Given the description of an element on the screen output the (x, y) to click on. 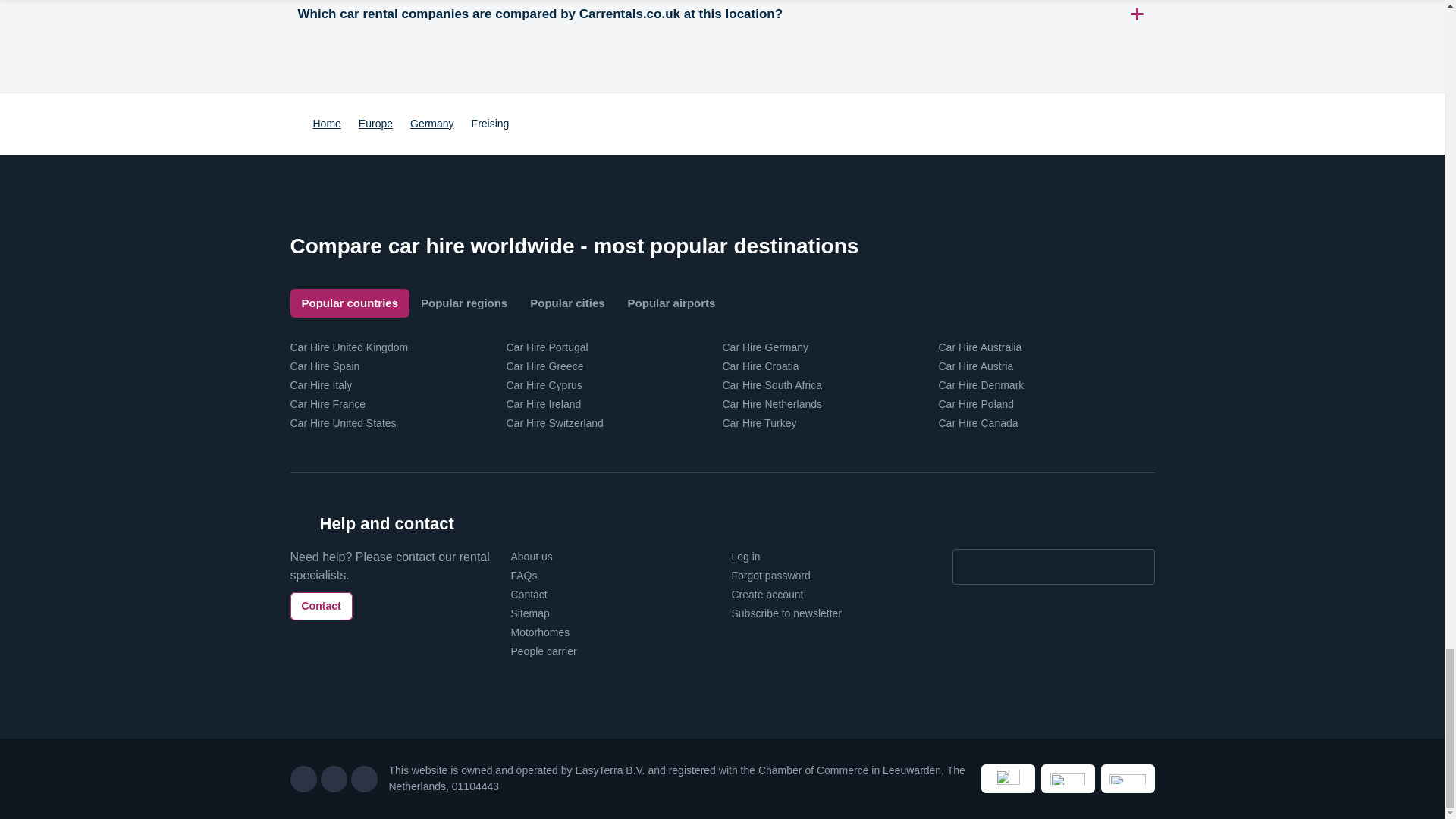
Car Hire United Kingdom (348, 346)
Home (326, 123)
Car Hire Spain (324, 366)
Germany (432, 123)
Europe (375, 123)
